Given the description of an element on the screen output the (x, y) to click on. 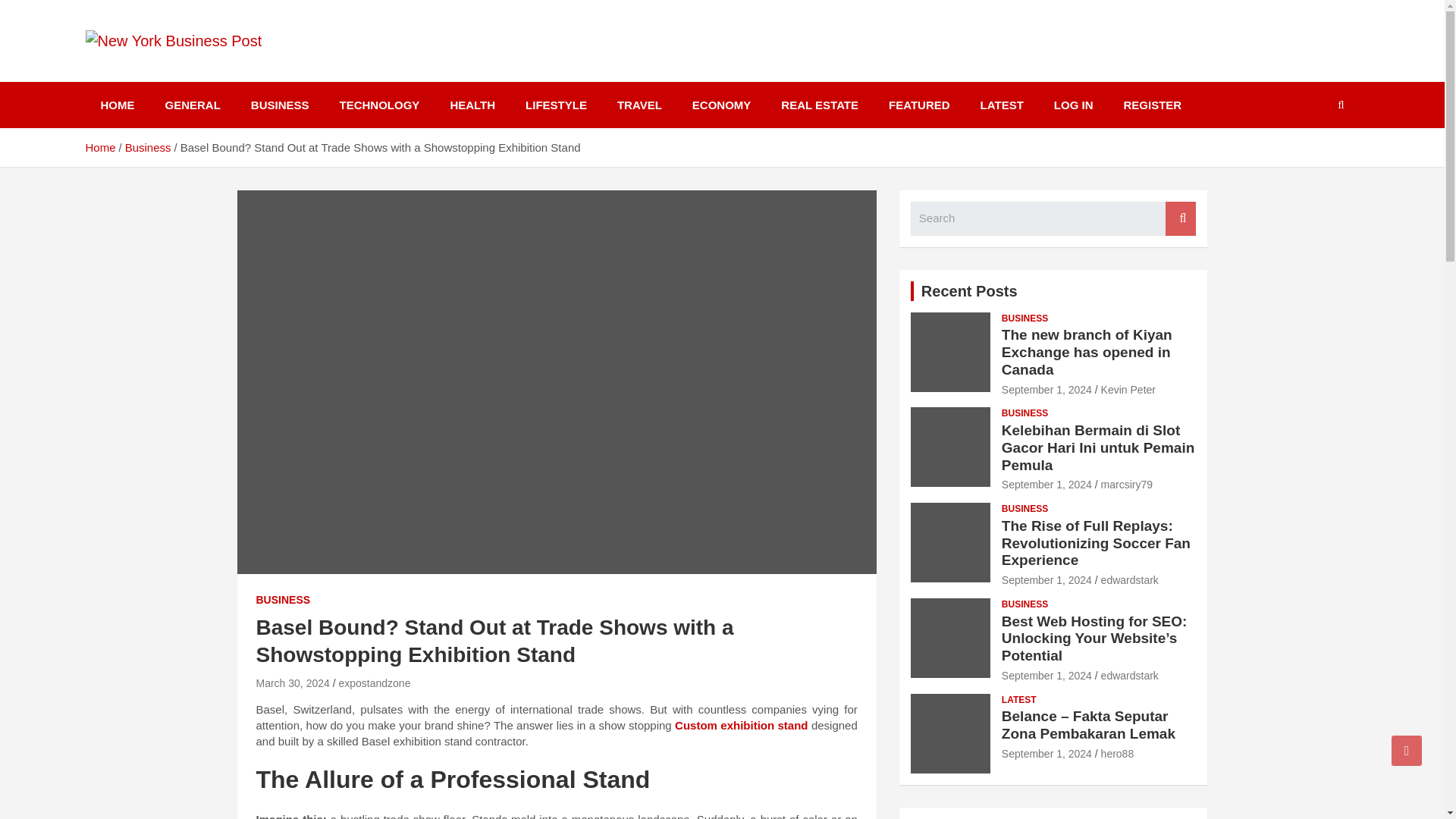
LATEST (1002, 104)
expostandzone (373, 683)
Kelebihan Bermain di Slot Gacor Hari Ini untuk Pemain Pemula (1046, 484)
REAL ESTATE (819, 104)
FEATURED (919, 104)
Search (1180, 218)
ECONOMY (722, 104)
BUSINESS (283, 600)
REGISTER (1152, 104)
